Given the description of an element on the screen output the (x, y) to click on. 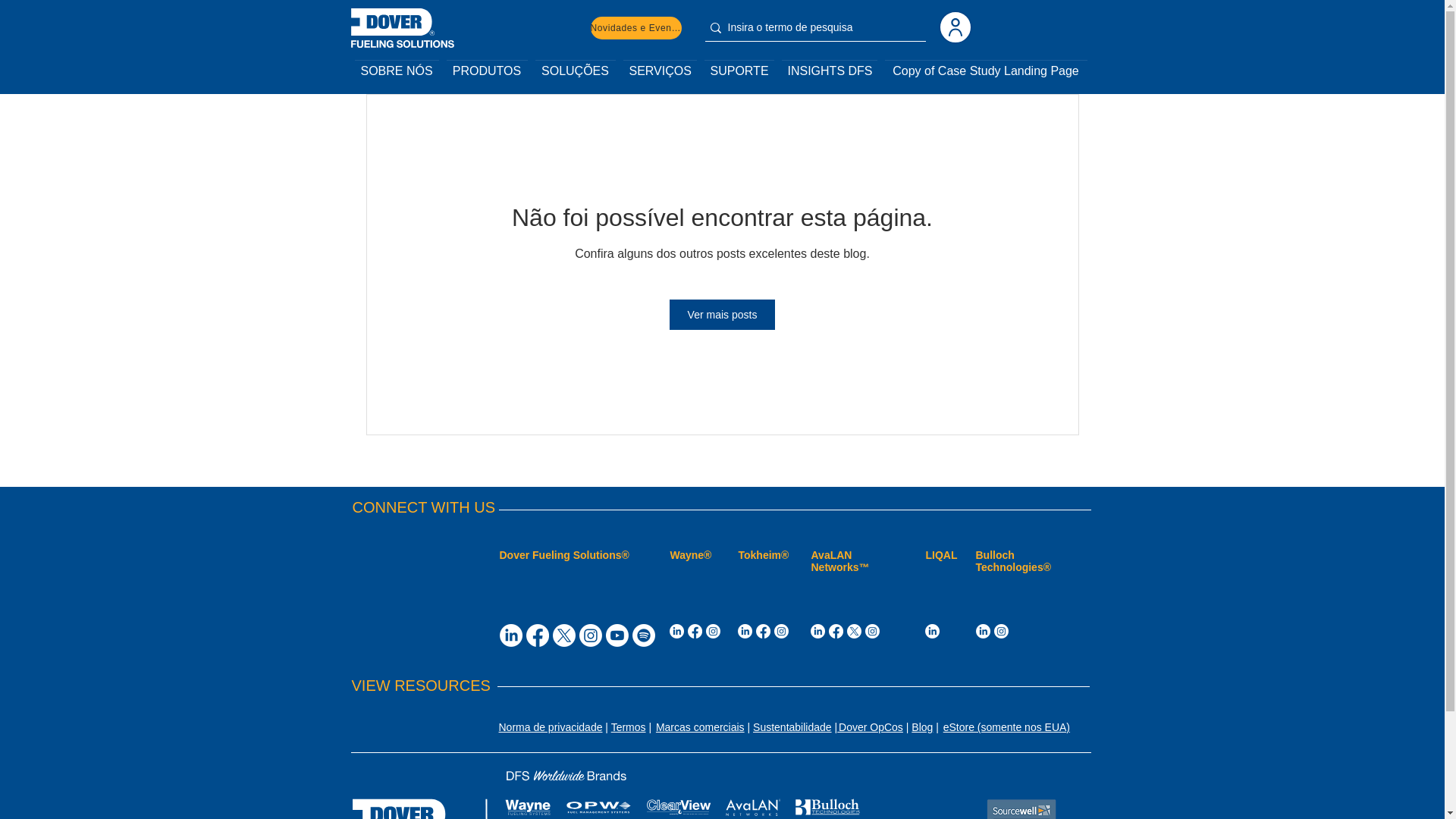
Novidades e Eventos (635, 27)
Ver mais posts (722, 314)
PRODUTOS (486, 63)
Copy of Case Study Landing Page (985, 63)
SUPORTE (738, 63)
